Given the description of an element on the screen output the (x, y) to click on. 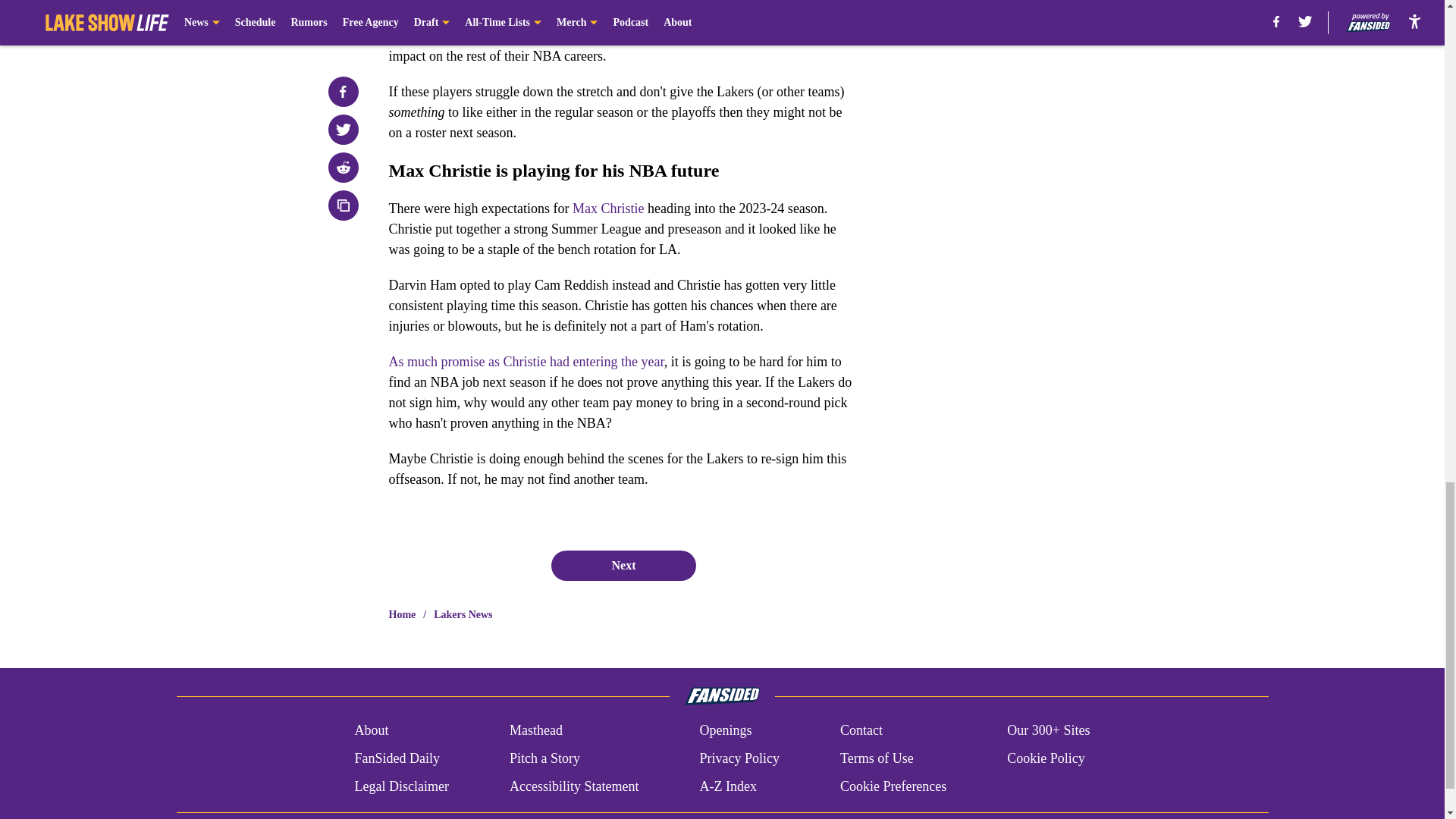
Next (622, 565)
As much promise as Christie had entering the year (525, 361)
Max Christie (608, 208)
